Given the description of an element on the screen output the (x, y) to click on. 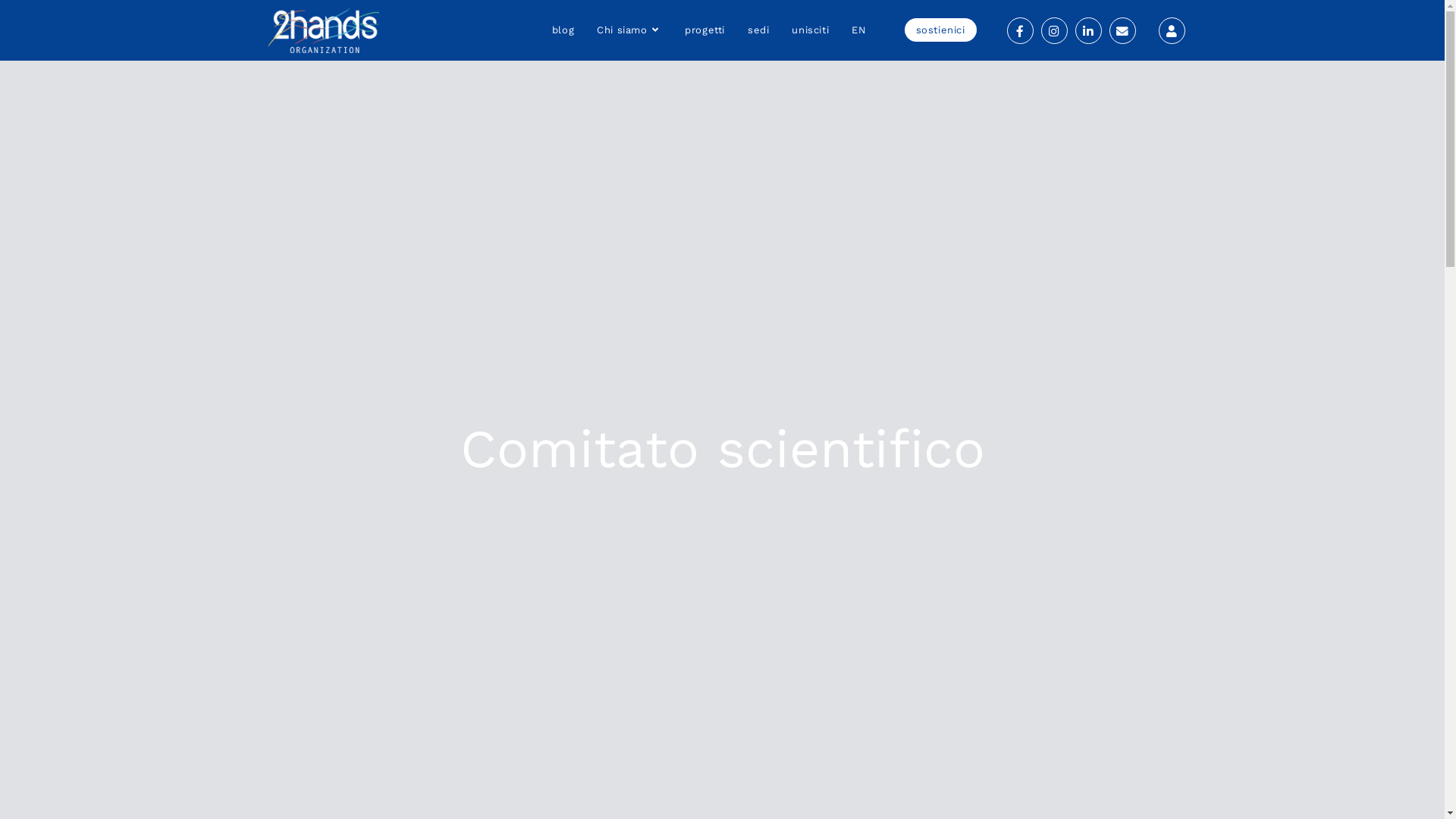
Viviana Tedesco Element type: text (1013, 798)
unisciti Element type: text (810, 30)
progetti Element type: text (704, 30)
Cookie Policy Element type: text (995, 504)
Matteo Iommi Element type: text (1146, 798)
Privacy Policy Element type: text (996, 470)
blog Element type: text (562, 30)
sostienici Element type: text (940, 30)
sedi Element type: text (758, 30)
LA FEBBRE DEGLI OCEANI Element type: text (573, 558)
EN Element type: text (858, 30)
sostienici Element type: text (773, 516)
Chi siamo Element type: text (629, 30)
